Given the description of an element on the screen output the (x, y) to click on. 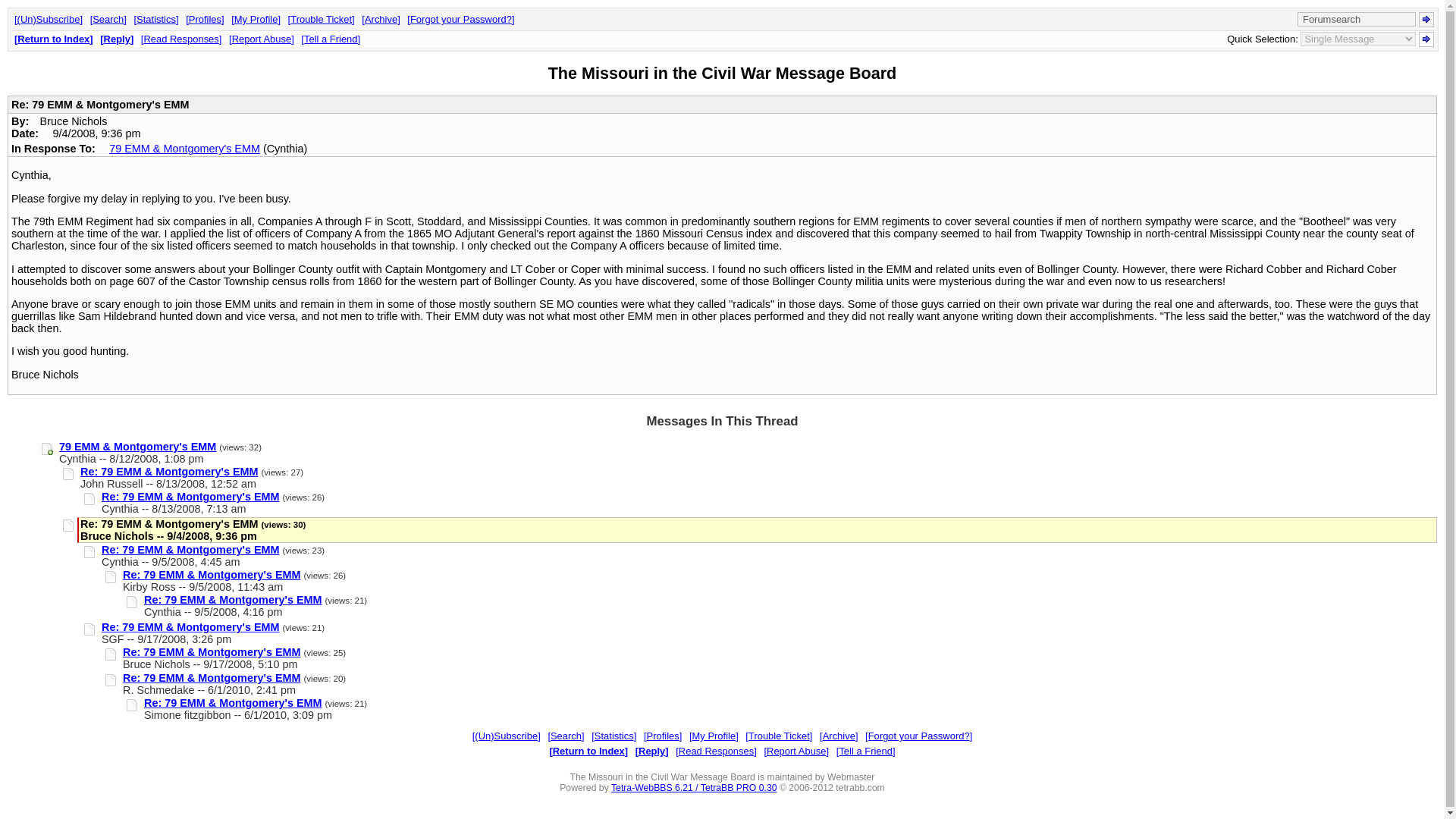
Read Responses (181, 39)
Profiles (662, 736)
Reply (116, 39)
Search (108, 19)
 Forumsearch (1356, 19)
Statistics (613, 736)
Trouble Ticket (321, 19)
Trouble Ticket (778, 736)
Tell a Friend (865, 750)
Forgot your Password? (918, 736)
Archive (838, 736)
Submit (1426, 19)
Statistics (155, 19)
